Given the description of an element on the screen output the (x, y) to click on. 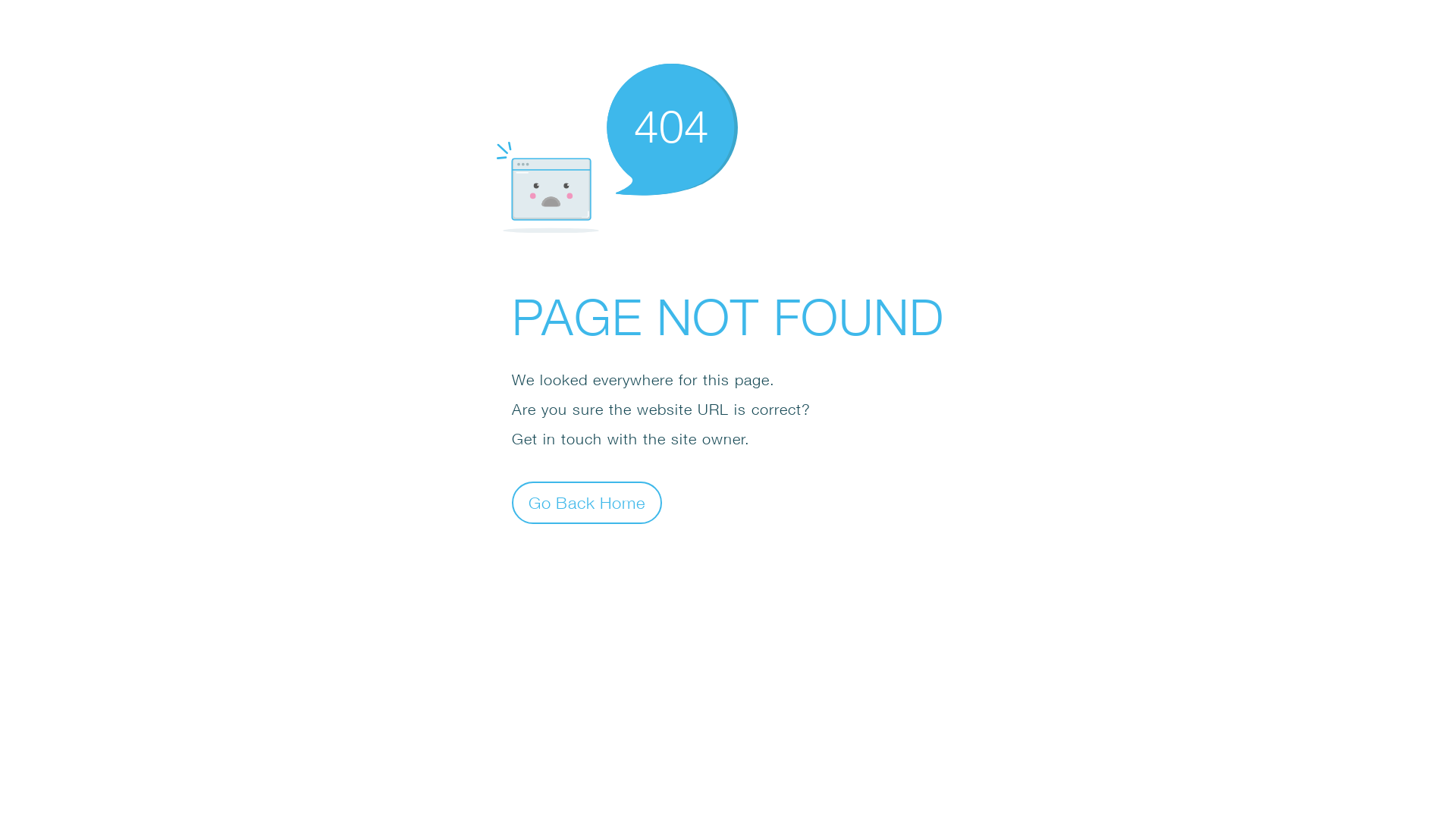
Go Back Home Element type: text (586, 502)
